Given the description of an element on the screen output the (x, y) to click on. 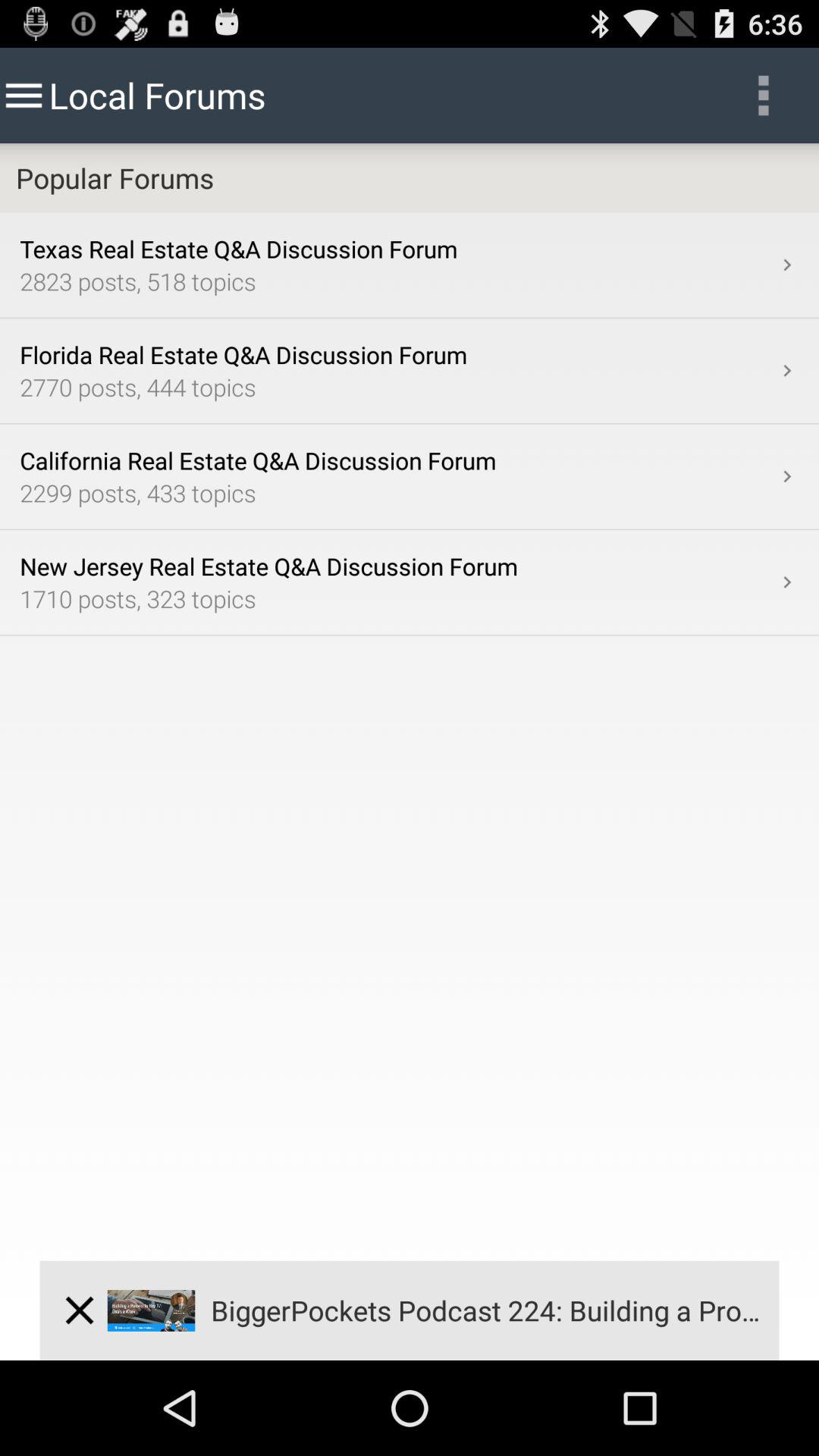
turn on app below the california real estate item (397, 492)
